Given the description of an element on the screen output the (x, y) to click on. 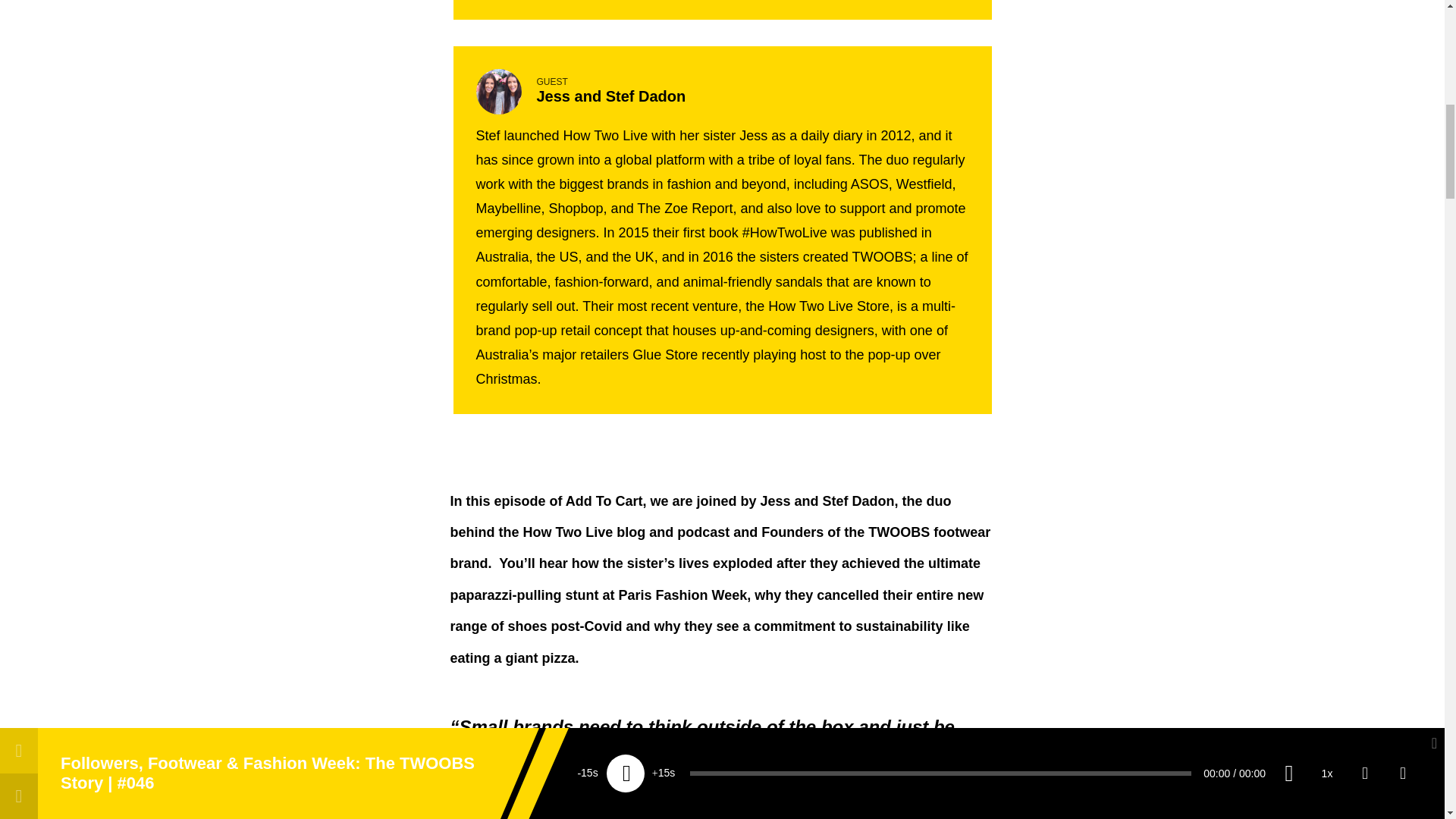
Jess and Stef Dadon (611, 96)
Posts by Jess and Stef Dadon (611, 96)
Jess and Stef Dadon (512, 810)
